Given the description of an element on the screen output the (x, y) to click on. 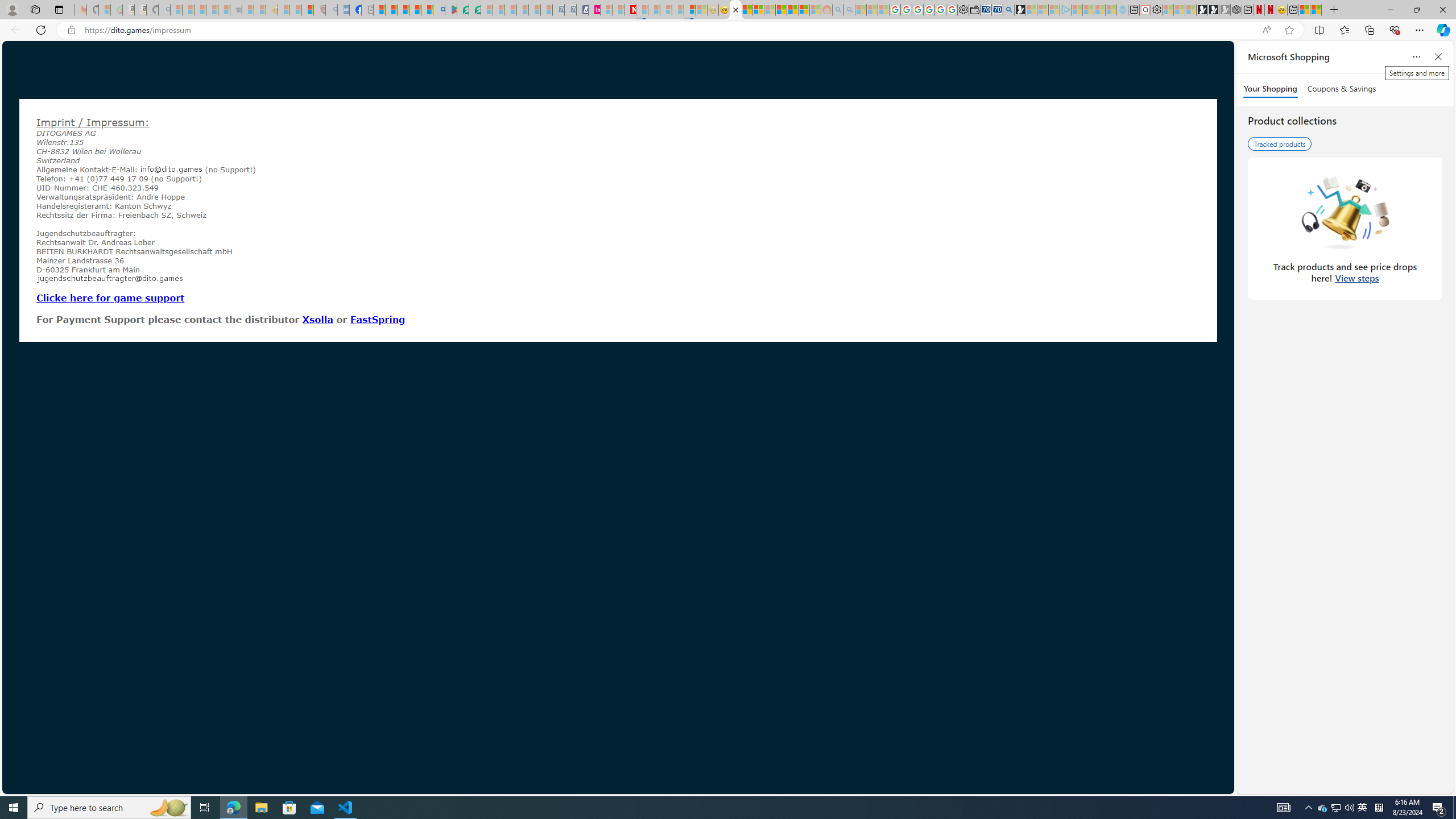
Bluey: Let's Play! - Apps on Google Play (450, 9)
Cheap Hotels - Save70.com - Sleeping (569, 9)
New Report Confirms 2023 Was Record Hot | Watch - Sleeping (223, 9)
Latest Politics News & Archive | Newsweek.com (629, 9)
Microsoft Word - consumer-privacy address update 2.2021 (475, 9)
Clicke here for game support (110, 297)
New tab - Sleeping (367, 9)
Pets - MSN (415, 9)
